Given the description of an element on the screen output the (x, y) to click on. 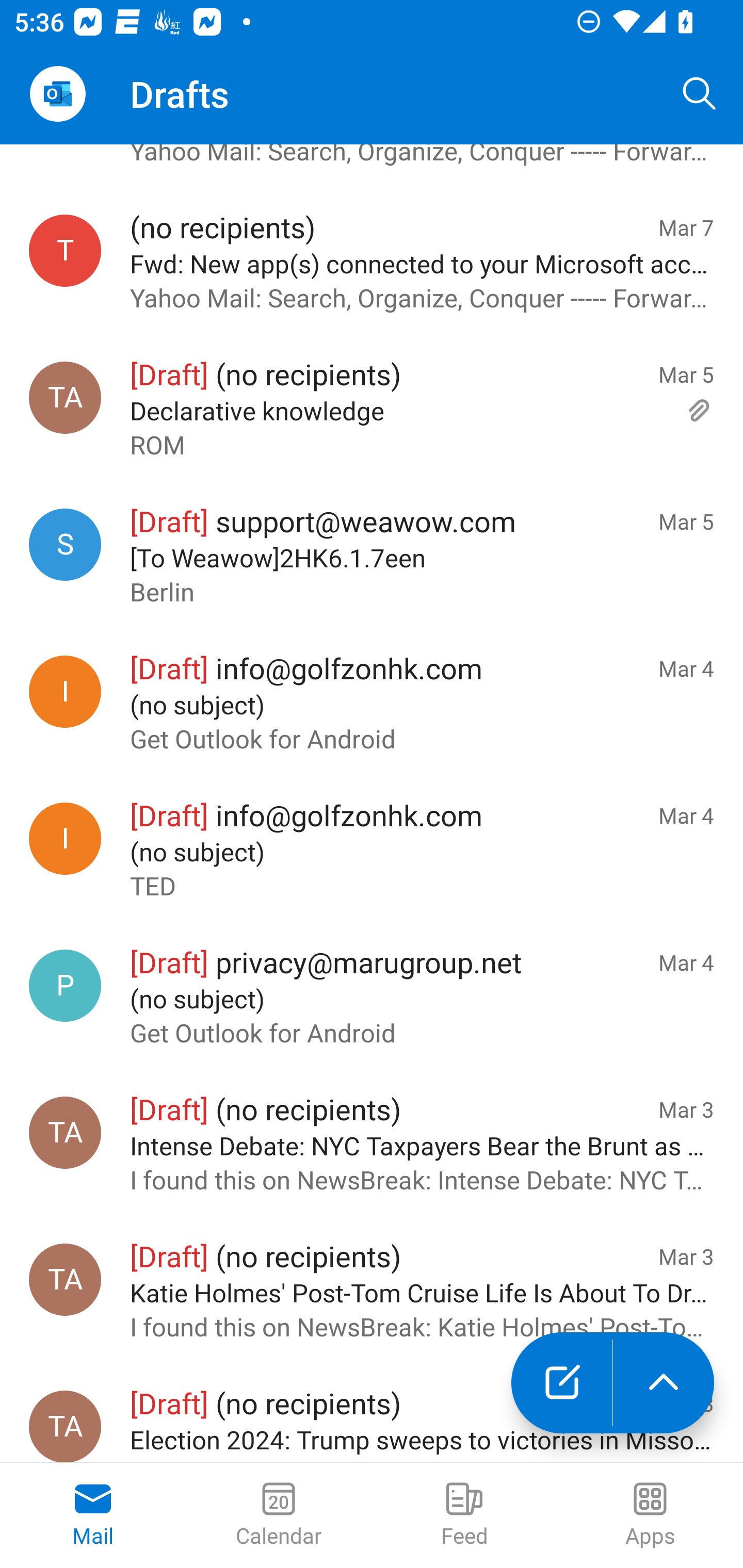
Search, ,  (699, 93)
Open Navigation Drawer (57, 94)
testappium002@outlook.com (64, 250)
Test Appium, testappium002@outlook.com (64, 398)
support@weawow.com (64, 544)
info@golfzonhk.com (64, 691)
info@golfzonhk.com (64, 838)
privacy@marugroup.net (64, 986)
Test Appium, testappium002@outlook.com (64, 1132)
Test Appium, testappium002@outlook.com (64, 1279)
New mail (561, 1382)
launch the extended action menu (663, 1382)
Test Appium, testappium002@outlook.com (64, 1426)
Calendar (278, 1515)
Feed (464, 1515)
Apps (650, 1515)
